Given the description of an element on the screen output the (x, y) to click on. 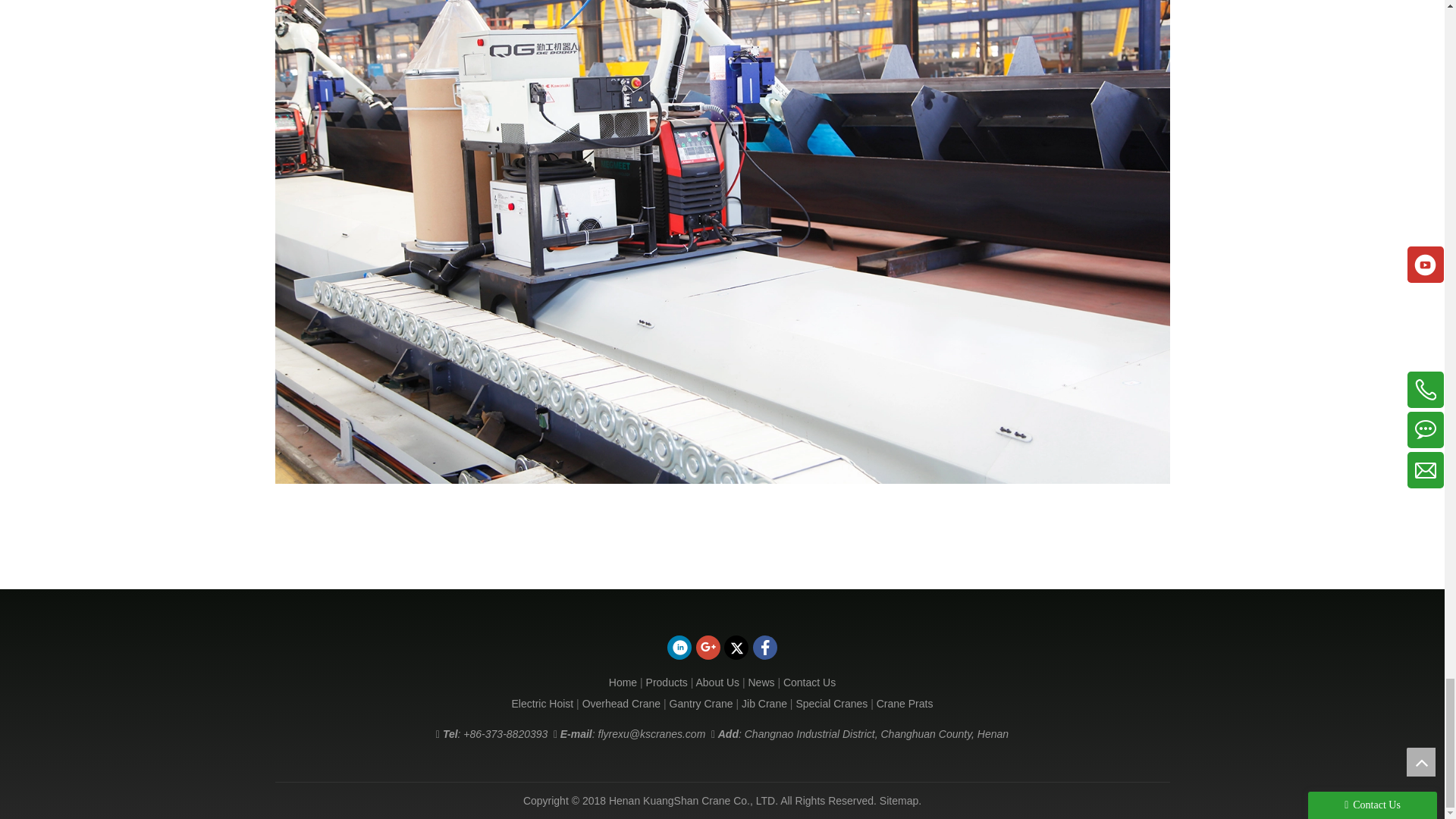
About Us (717, 682)
Home (622, 682)
Linkedin (678, 647)
Twitter (735, 647)
Facebook (764, 647)
Products (666, 682)
News (761, 682)
